Given the description of an element on the screen output the (x, y) to click on. 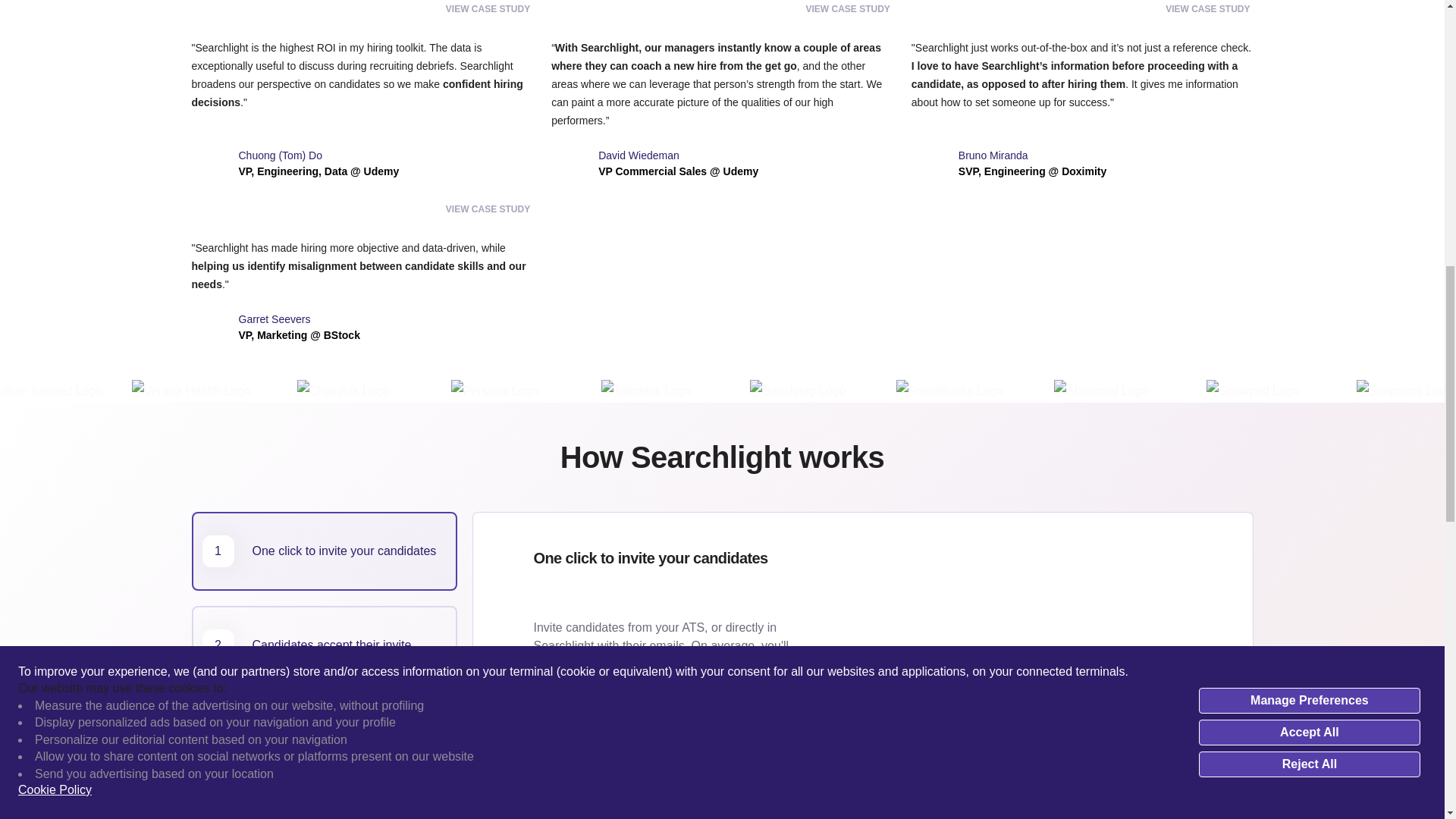
VIEW CASE STUDY (488, 209)
VIEW CASE STUDY (323, 550)
VIEW CASE STUDY (323, 645)
VIEW CASE STUDY (1209, 8)
